Given the description of an element on the screen output the (x, y) to click on. 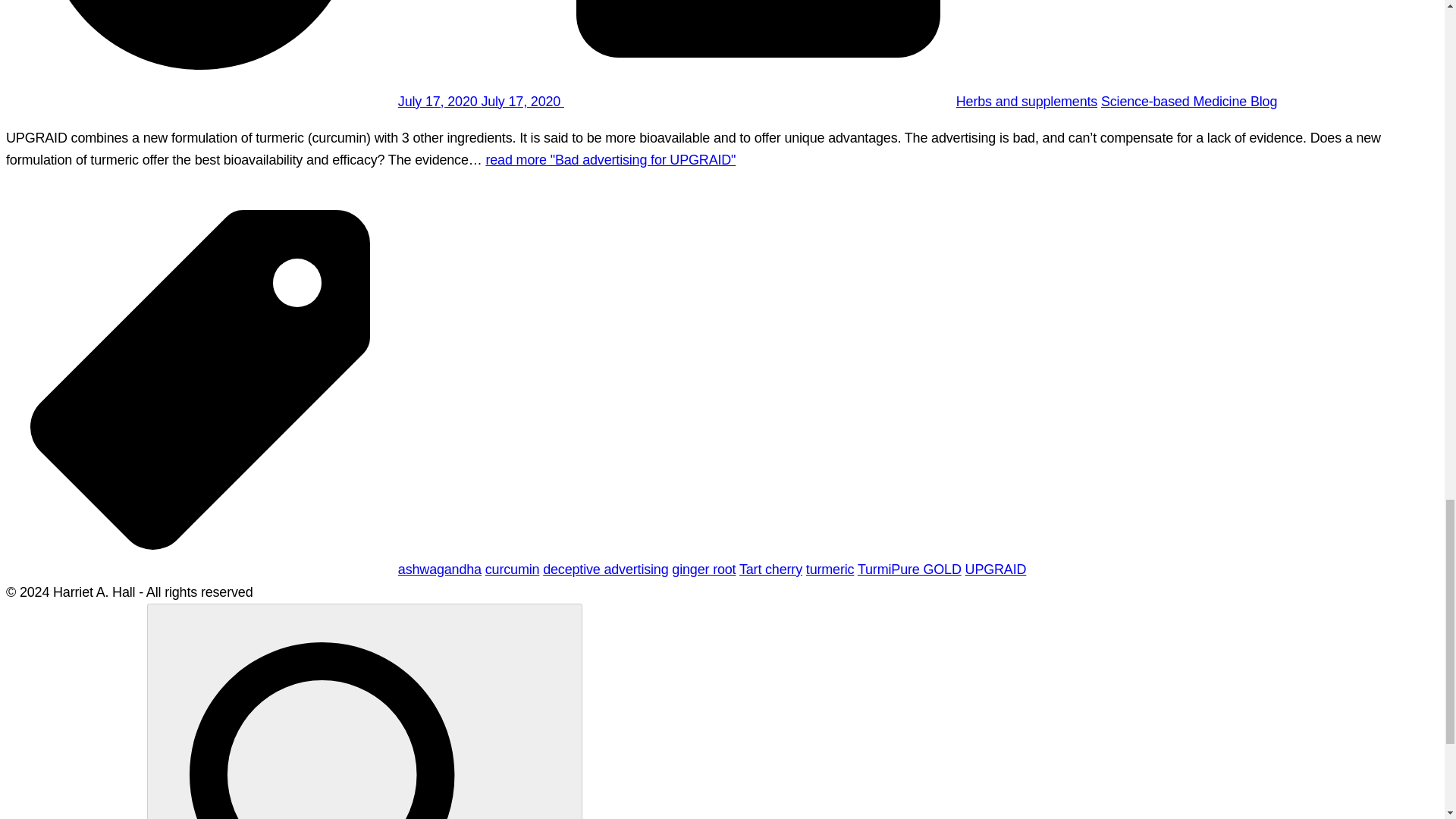
curcumin (512, 569)
deceptive advertising (605, 569)
ginger root (703, 569)
Herbs and supplements (1026, 101)
July 17, 2020 July 17, 2020 (480, 101)
read more "Bad advertising for UPGRAID" (609, 159)
Tart cherry (770, 569)
ashwagandha (439, 569)
Science-based Medicine Blog (1188, 101)
